Given the description of an element on the screen output the (x, y) to click on. 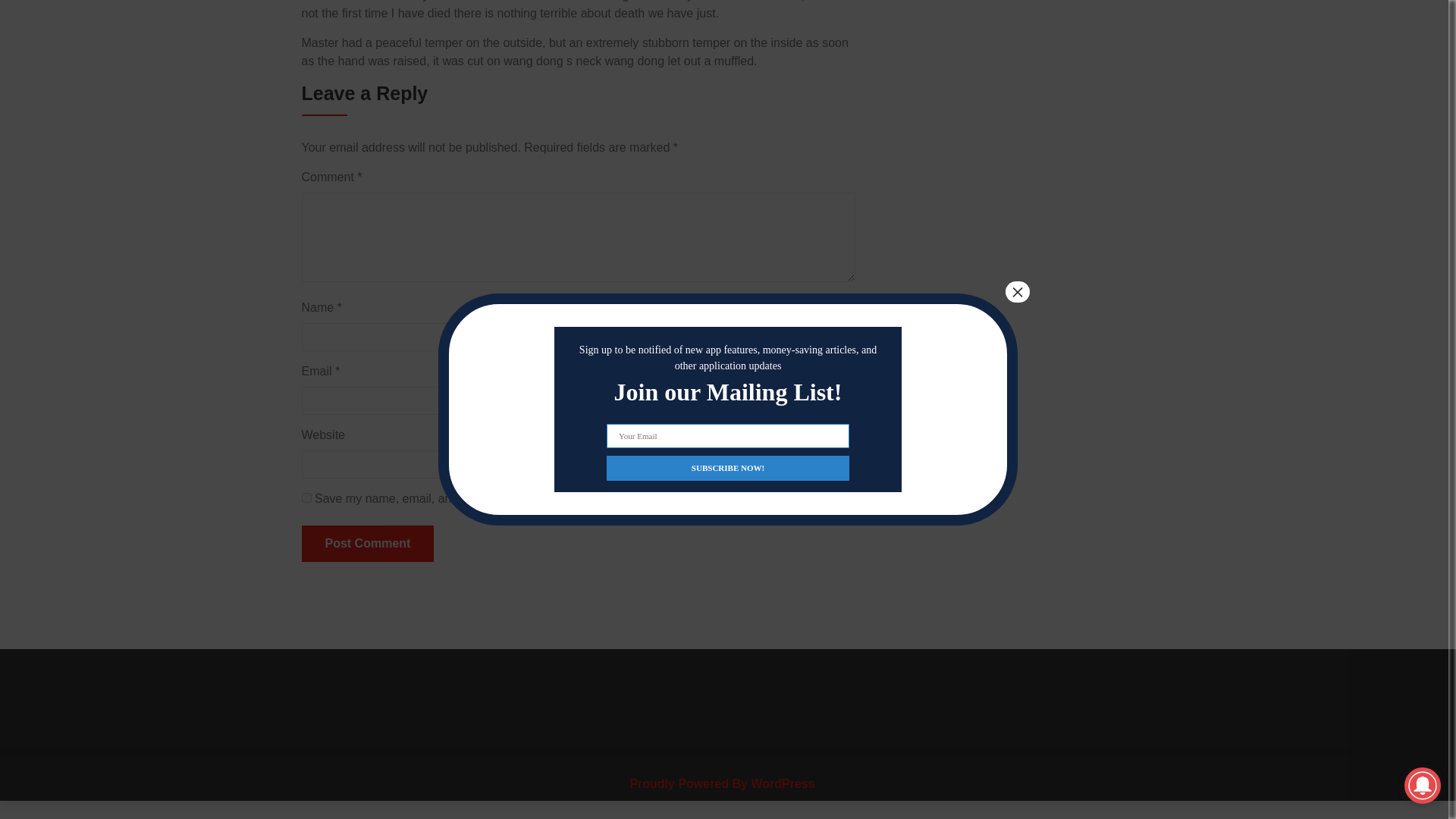
Post Comment (367, 543)
